Given the description of an element on the screen output the (x, y) to click on. 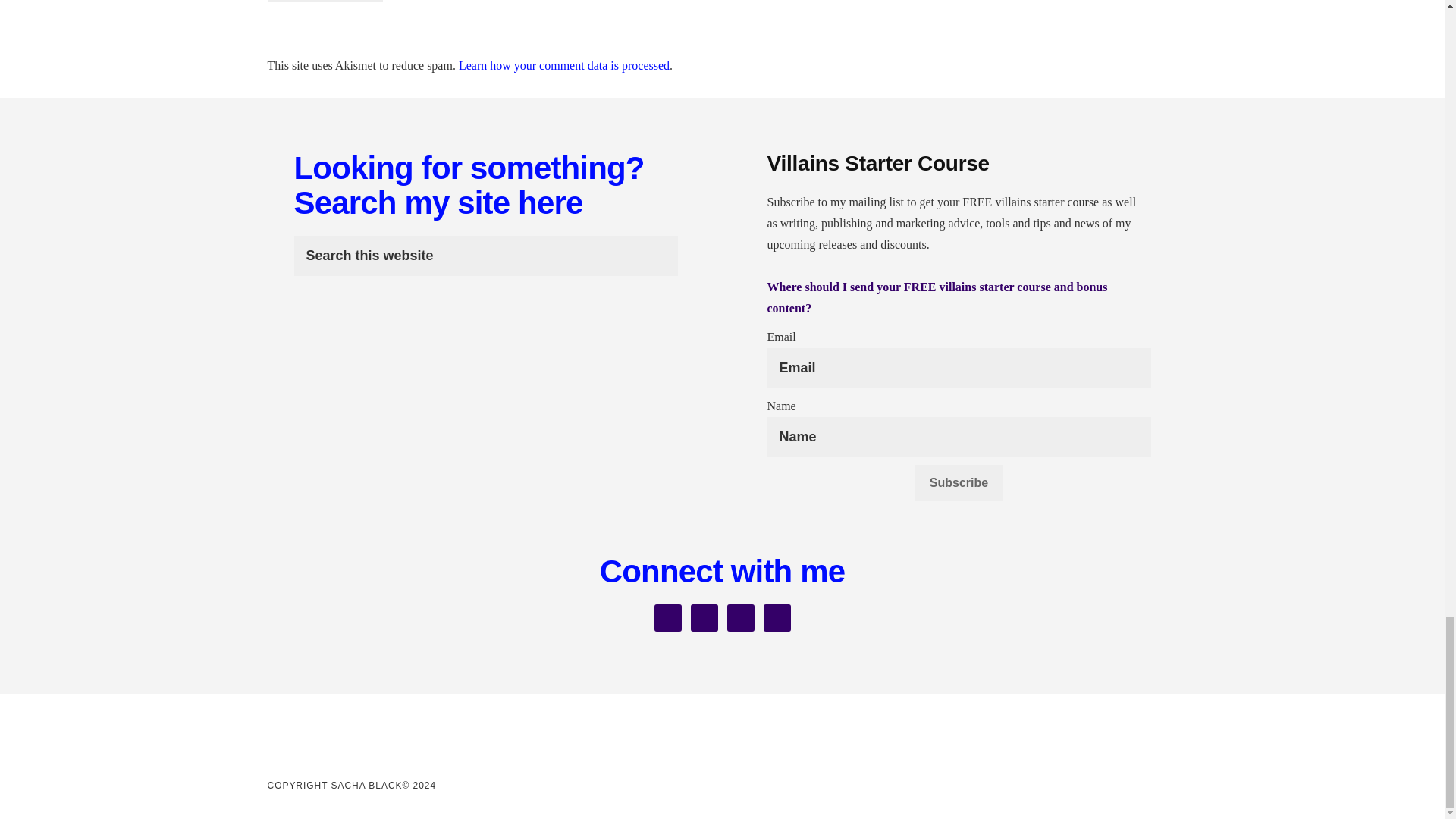
Post Comment (324, 1)
